Given the description of an element on the screen output the (x, y) to click on. 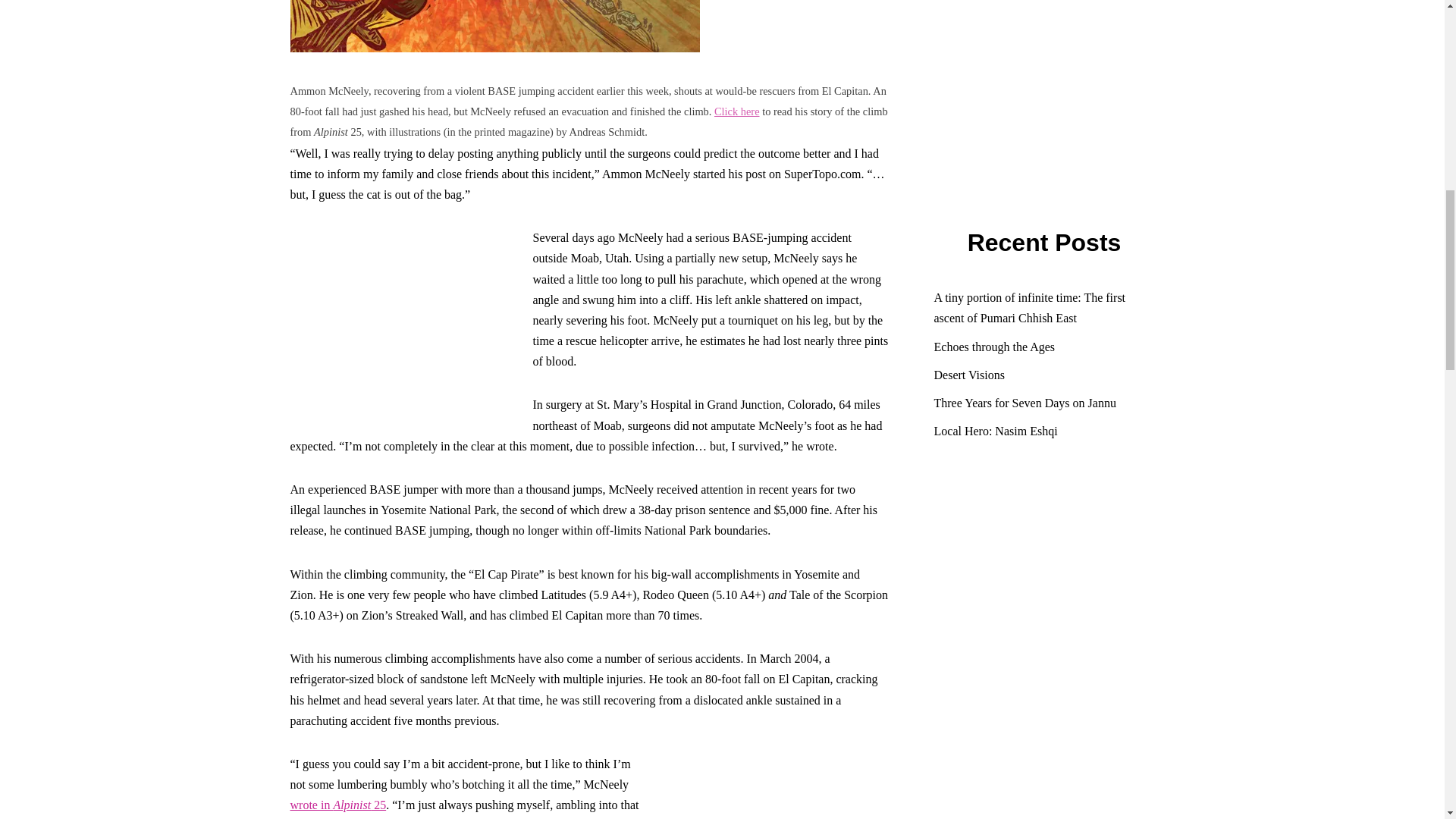
3rd party ad content (774, 786)
Local Hero: Nasim Eshqi (996, 431)
Three Years for Seven Days on Jannu (1025, 402)
3rd party ad content (1047, 634)
Echoes through the Ages (994, 346)
3rd party ad content (402, 321)
Desert Visions (969, 374)
wrote in Alpinist 25 (337, 804)
ammon-1 (493, 26)
Click here (737, 111)
